Given the description of an element on the screen output the (x, y) to click on. 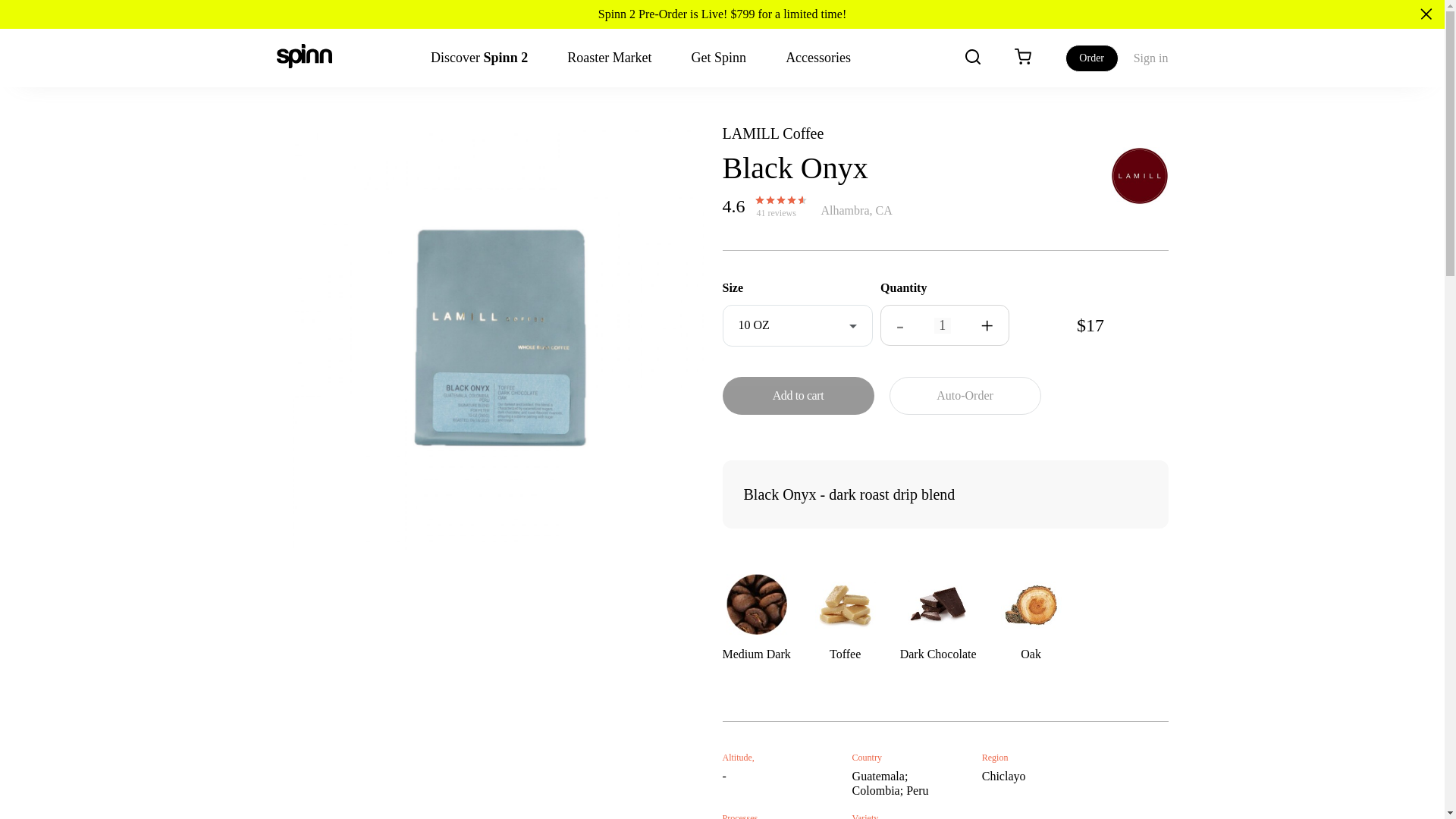
LAMILL Coffee (773, 133)
Roaster Market (608, 57)
Discover Spinn 2 (478, 57)
Get Spinn (718, 57)
Auto-Order (964, 395)
Order (1091, 58)
Sign in (1151, 58)
Accessories (818, 57)
4.6 out of 5 (778, 201)
1 (942, 325)
